Given the description of an element on the screen output the (x, y) to click on. 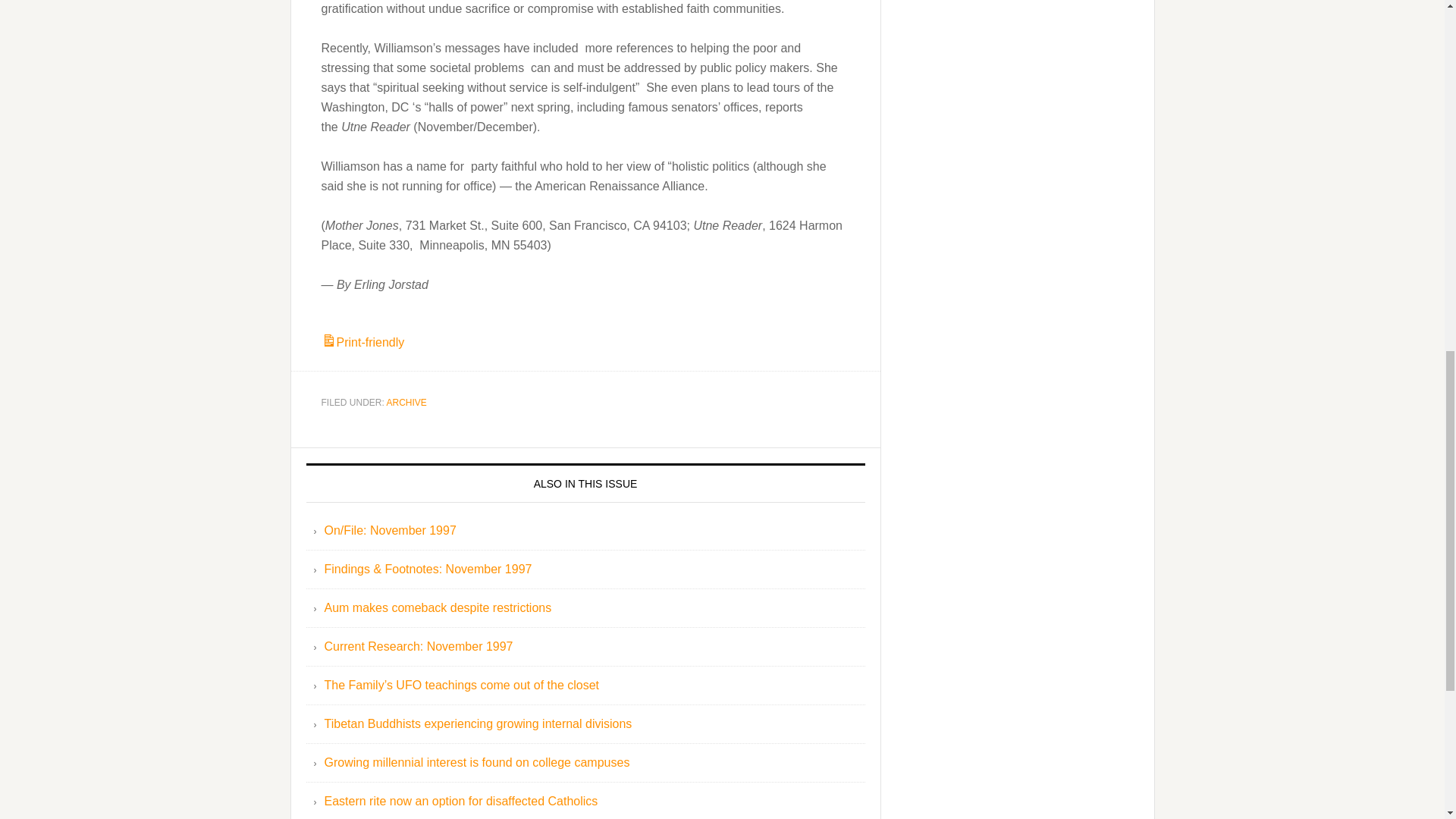
ARCHIVE (406, 402)
Growing millennial interest is found on college campuses (477, 762)
Print-friendly (362, 341)
Eastern rite now an option for disaffected Catholics (461, 800)
Aum makes comeback despite restrictions (437, 607)
Current Research: November 1997 (418, 645)
Tibetan Buddhists experiencing growing internal divisions (477, 723)
